Given the description of an element on the screen output the (x, y) to click on. 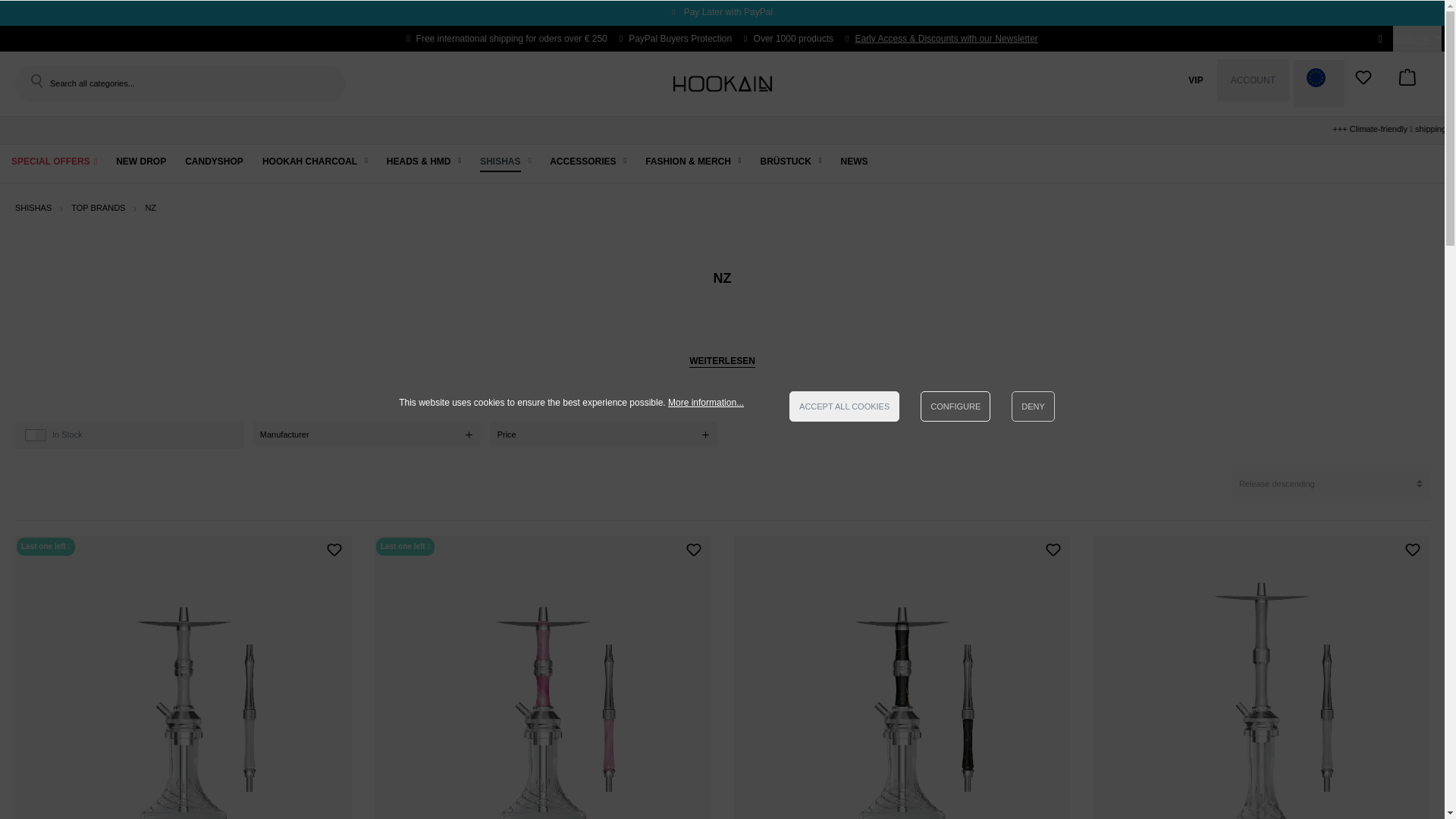
ENGLISH (1417, 38)
ACCOUNT (1252, 79)
ACCESSORIES (588, 162)
NEW DROP (140, 162)
My account (1252, 79)
VIP (1194, 79)
Go to homepage (721, 83)
CANDYSHOP (213, 162)
HOOKAH CHARCOAL (315, 162)
SHISHAS (505, 162)
VIP Membership Levels (1194, 79)
SPECIAL OFFERS (54, 162)
